Given the description of an element on the screen output the (x, y) to click on. 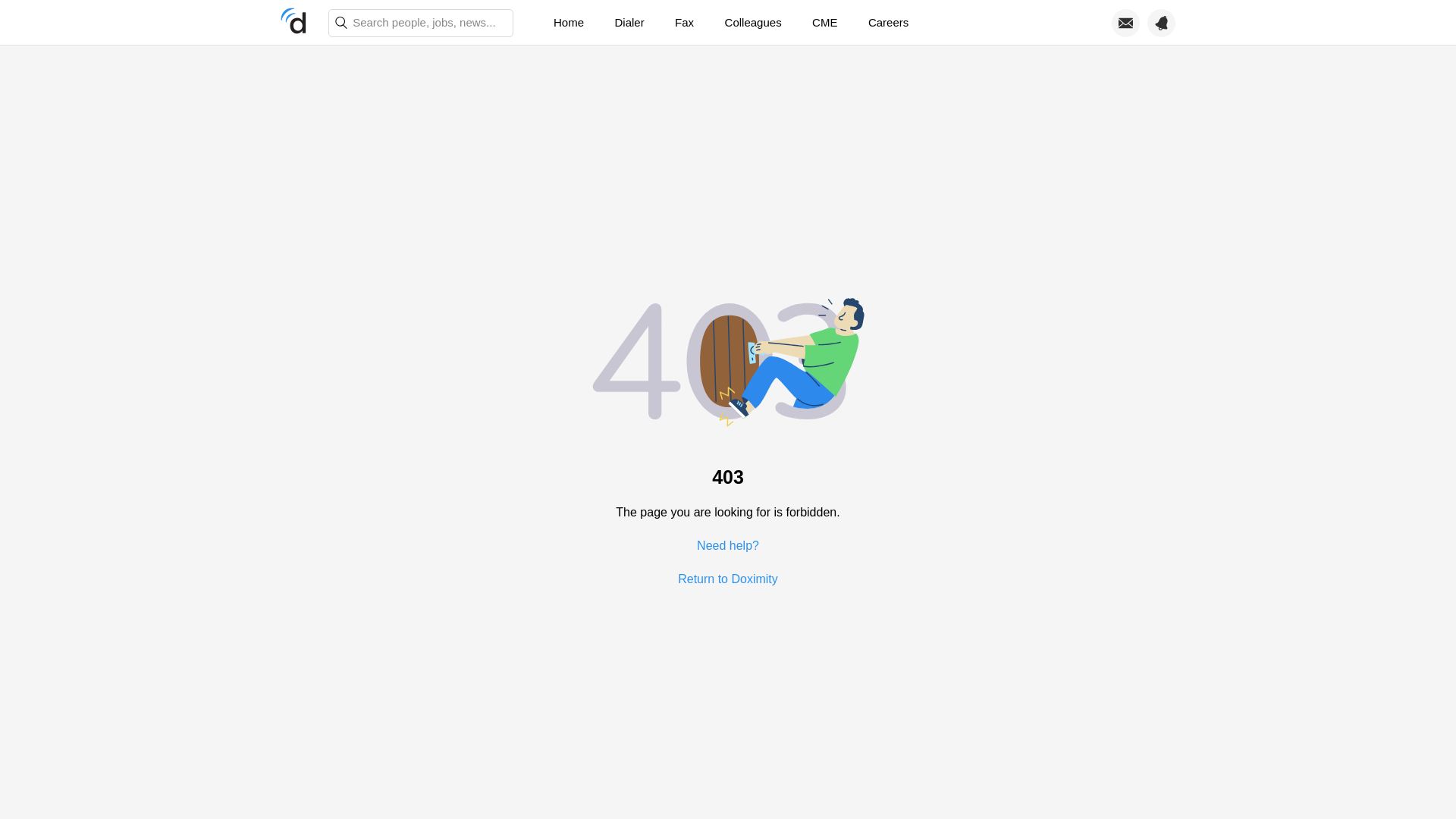
Search people, jobs, news... (421, 22)
Careers (887, 22)
CME (823, 22)
Dialer (628, 22)
Home (568, 22)
Colleagues (752, 22)
Return to Doximity (727, 577)
Need help? (727, 544)
Fax (684, 22)
